Given the description of an element on the screen output the (x, y) to click on. 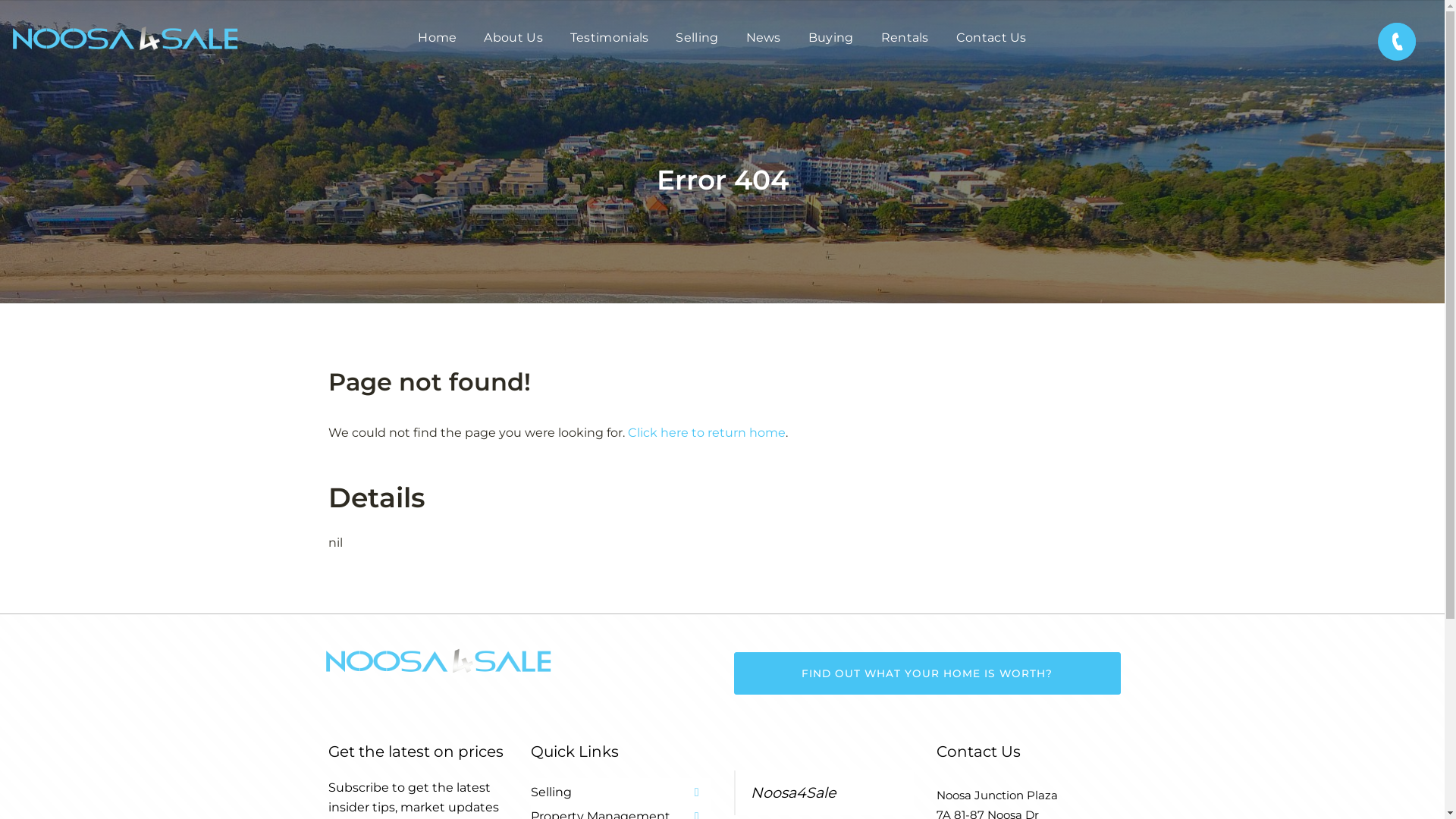
News Element type: text (763, 37)
Selling Element type: text (696, 37)
Contact Us Element type: text (991, 37)
FIND OUT WHAT YOUR HOME IS WORTH? Element type: text (927, 673)
Noosa4Sale Element type: text (793, 792)
Testimonials Element type: text (609, 37)
About Us Element type: text (512, 37)
Rentals Element type: text (904, 37)
Click here to return home Element type: text (706, 432)
Buying Element type: text (830, 37)
Home Element type: text (436, 37)
